Given the description of an element on the screen output the (x, y) to click on. 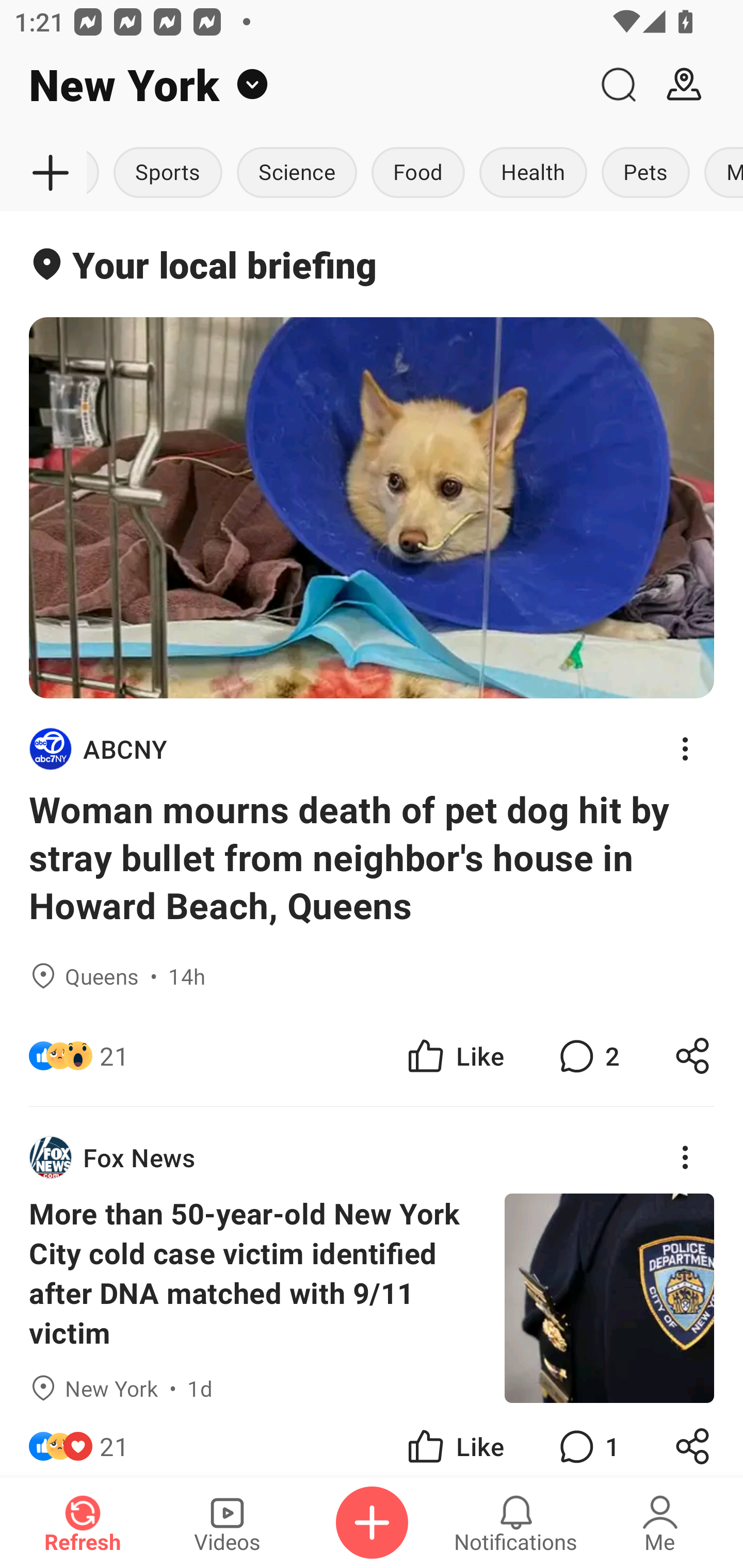
New York (292, 84)
Sports (167, 172)
Science (296, 172)
Food (417, 172)
Health (532, 172)
Pets (645, 172)
21 (114, 1055)
Like (454, 1055)
2 (587, 1055)
21 (114, 1440)
Like (454, 1440)
1 (587, 1440)
Videos (227, 1522)
Notifications (516, 1522)
Me (659, 1522)
